Given the description of an element on the screen output the (x, y) to click on. 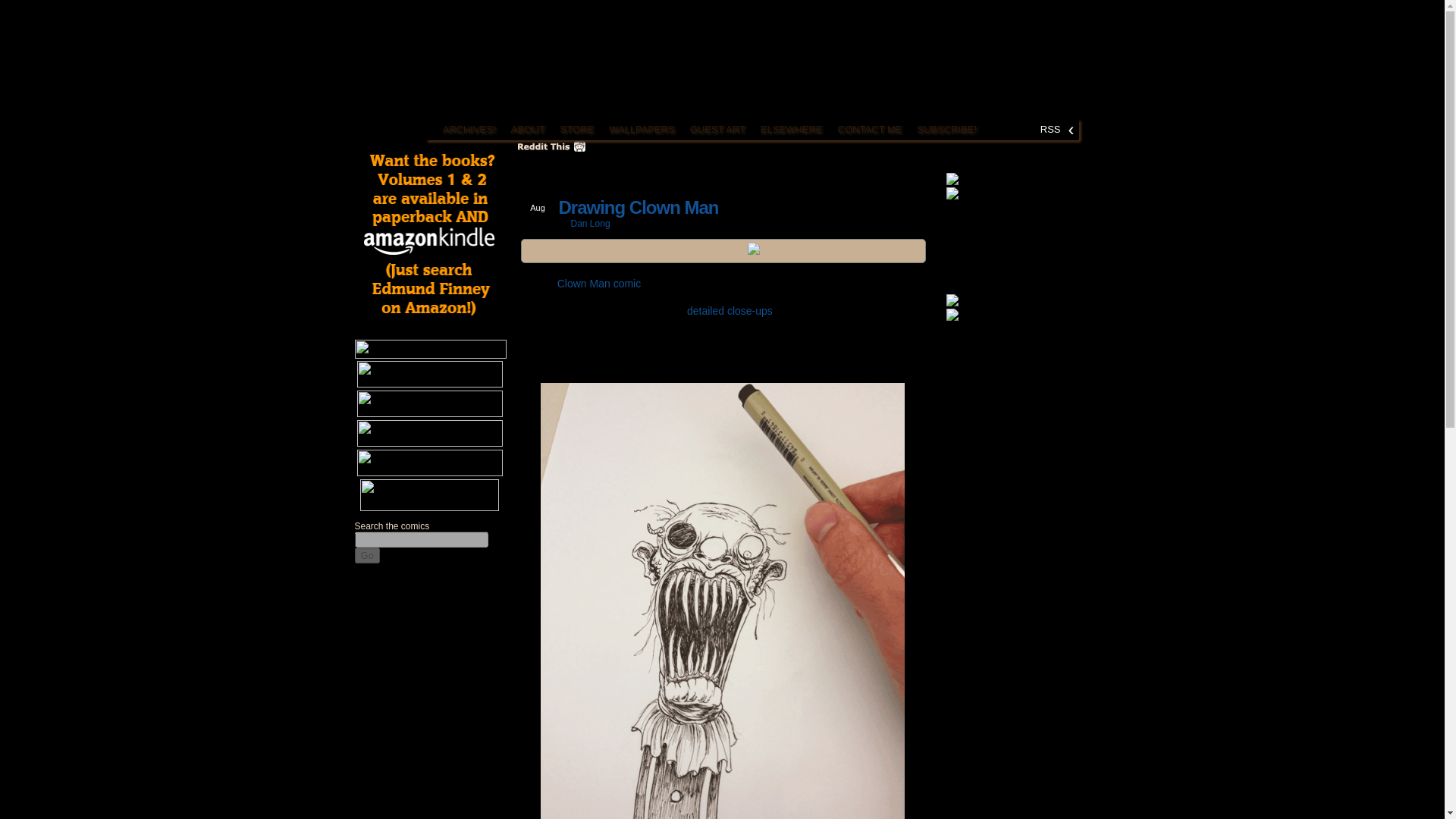
Go (367, 555)
ABOUT (528, 128)
RSS (1050, 129)
Go (367, 555)
Edmund Finney's Quest to Find the Meaning of Life (418, 66)
Dan Long (590, 223)
ELSEWHERE (790, 128)
STORE (576, 128)
Clown Man comic (598, 283)
Go get some Edmund Finney stuff! (429, 495)
